Given the description of an element on the screen output the (x, y) to click on. 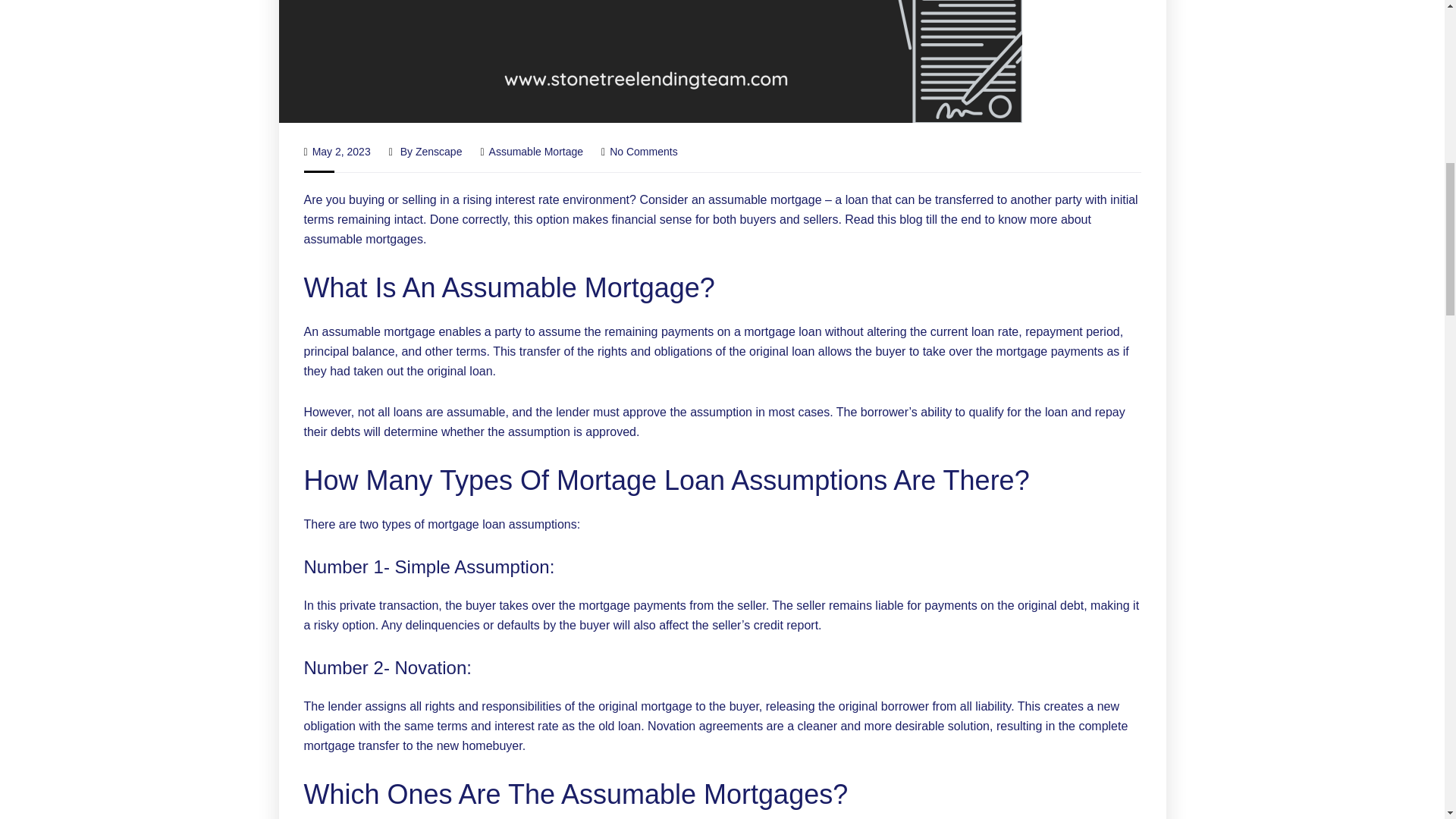
No Comments (639, 151)
Zenscape (437, 151)
Assumable Mortage (536, 151)
Posts by Zenscape (437, 151)
